Given the description of an element on the screen output the (x, y) to click on. 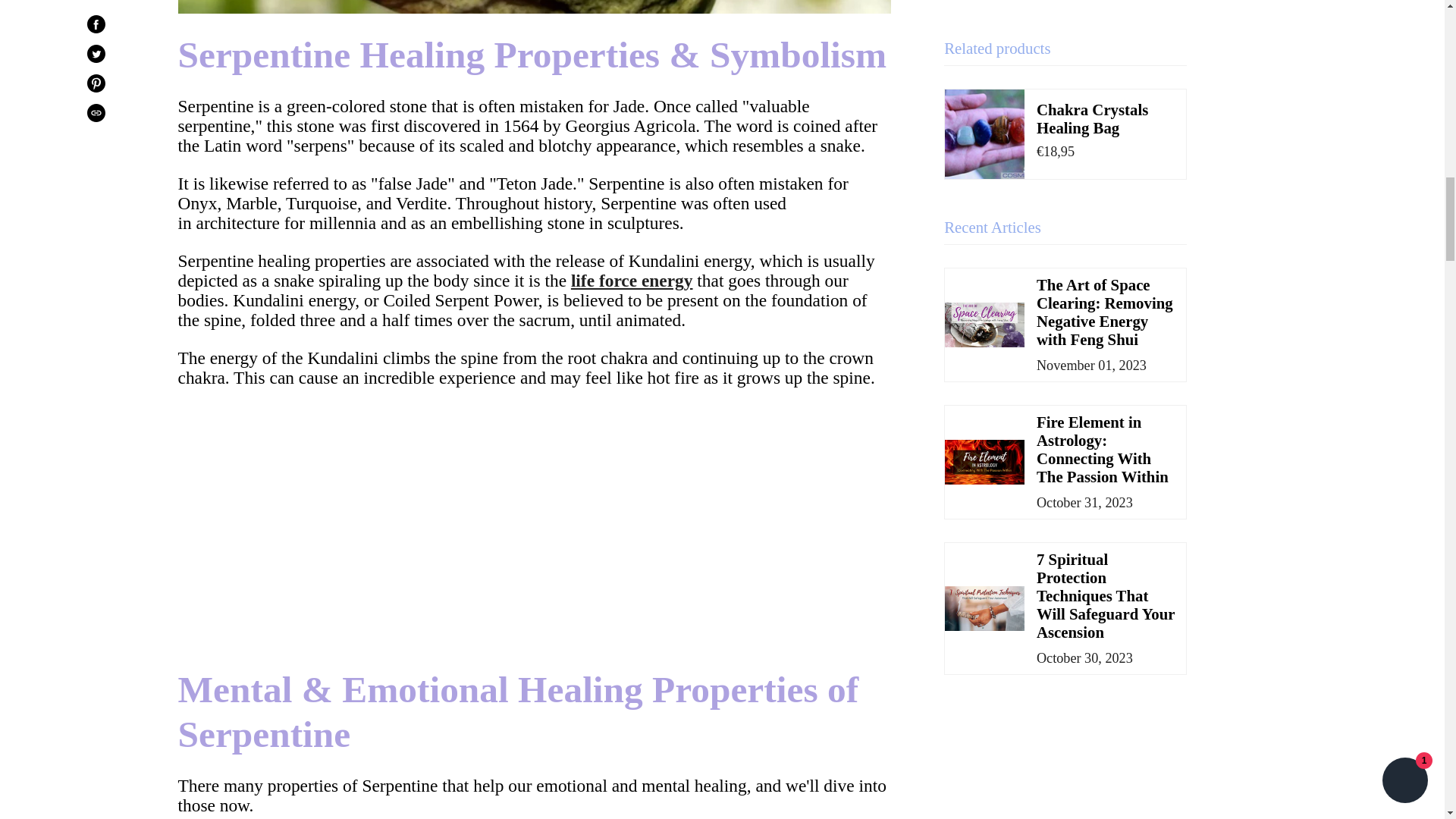
Life Force Energy (631, 280)
Serpentine Stones (534, 7)
YouTube video player (389, 524)
